Given the description of an element on the screen output the (x, y) to click on. 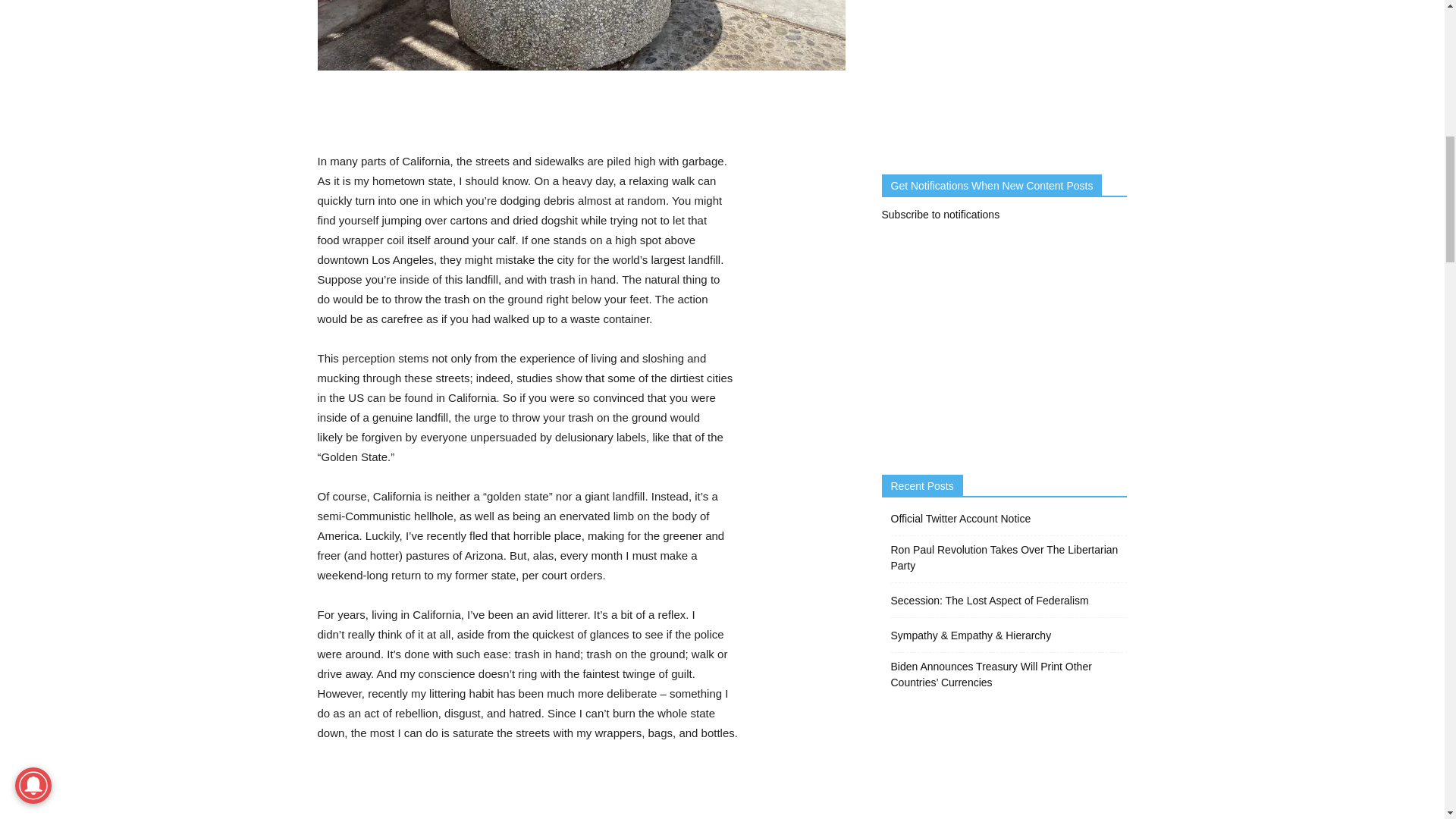
Advertisement (580, 785)
Advertisement (580, 112)
